Given the description of an element on the screen output the (x, y) to click on. 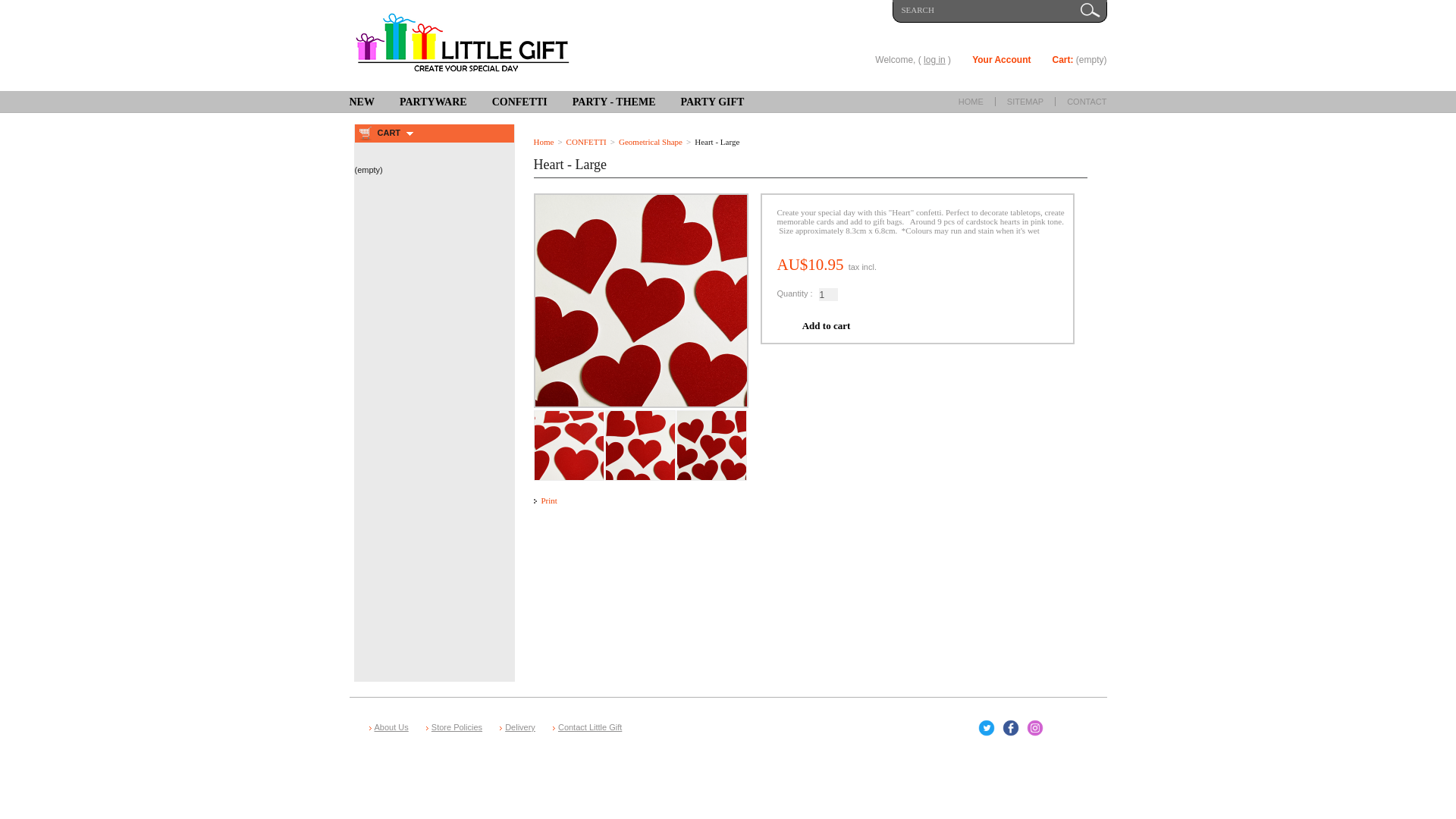
log in Element type: text (934, 59)
Home Element type: text (543, 141)
Facebook Element type: hover (1010, 727)
Heart - Large Element type: hover (711, 414)
CART Element type: text (389, 132)
Your Account Element type: text (1001, 59)
PARTY - THEME Element type: text (613, 102)
Geometrical Shape Element type: text (650, 141)
Delivery Element type: text (520, 726)
Print Element type: text (549, 500)
About Us Element type: text (391, 726)
Heart - Large Element type: hover (640, 414)
CONFETTI Element type: text (519, 102)
Little Gift Element type: text (465, 45)
Store Policies Element type: text (456, 726)
HOME Element type: text (970, 101)
Twitter Element type: hover (986, 727)
CONTACT Element type: text (1086, 101)
Add to cart Element type: text (825, 326)
Contact Little Gift Element type: text (589, 726)
PARTYWARE Element type: text (433, 102)
NEW Element type: text (360, 102)
PARTY GIFT Element type: text (711, 102)
Instagram Element type: hover (1034, 727)
Go! Element type: text (1090, 10)
SITEMAP Element type: text (1025, 101)
CONFETTI Element type: text (586, 141)
Heart - Large Element type: hover (568, 414)
Cart: Element type: text (1062, 59)
Add to cart Element type: text (22, 6)
